Given the description of an element on the screen output the (x, y) to click on. 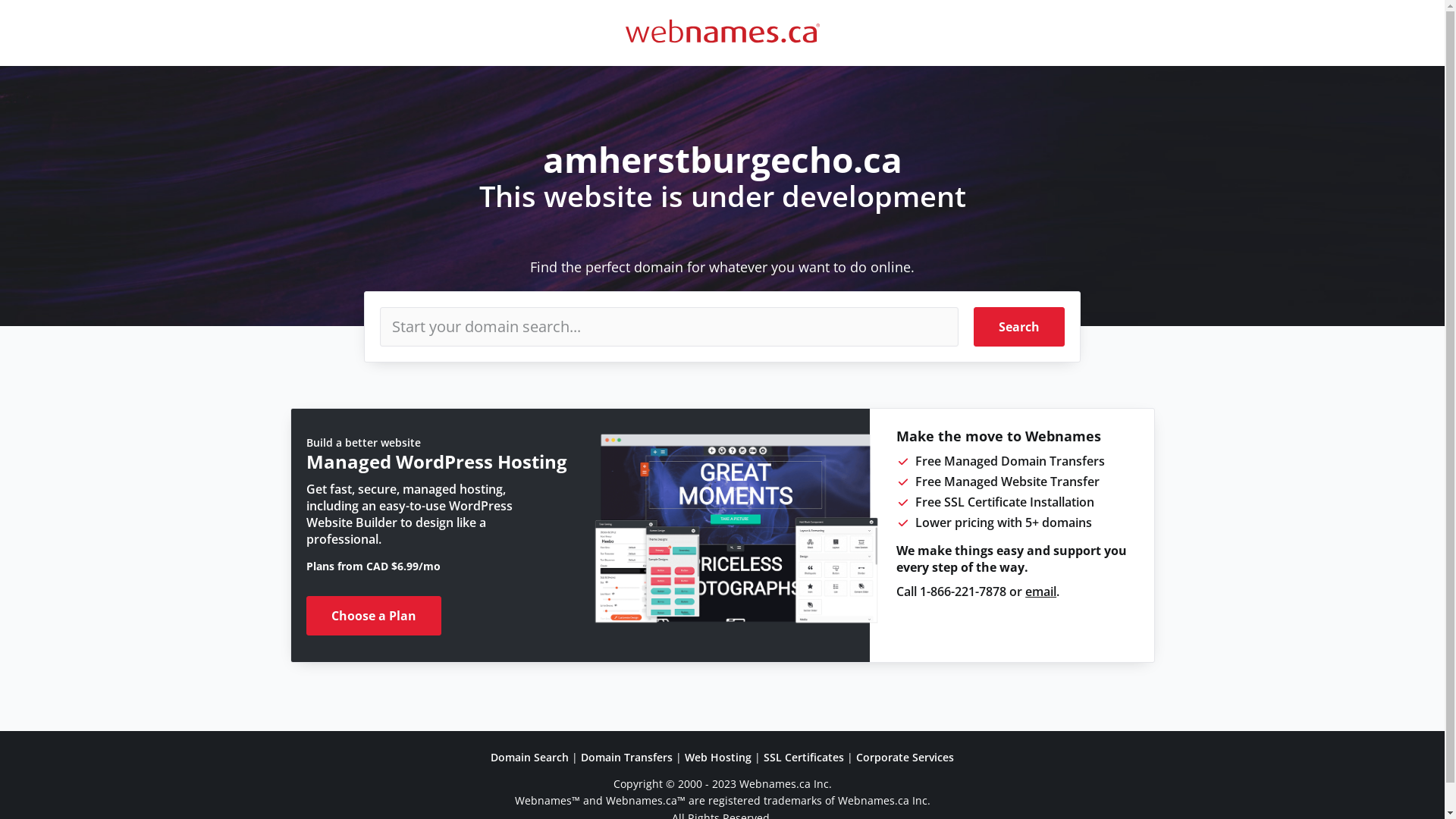
Corporate Services Element type: text (904, 756)
1-866-221-7878 Element type: text (962, 591)
Search Element type: text (1018, 326)
Domain Transfers Element type: text (626, 756)
email Element type: text (1040, 591)
Web Hosting Element type: text (717, 756)
SSL Certificates Element type: text (803, 756)
Domain Search Element type: text (529, 756)
Choose a Plan Element type: text (373, 615)
